Given the description of an element on the screen output the (x, y) to click on. 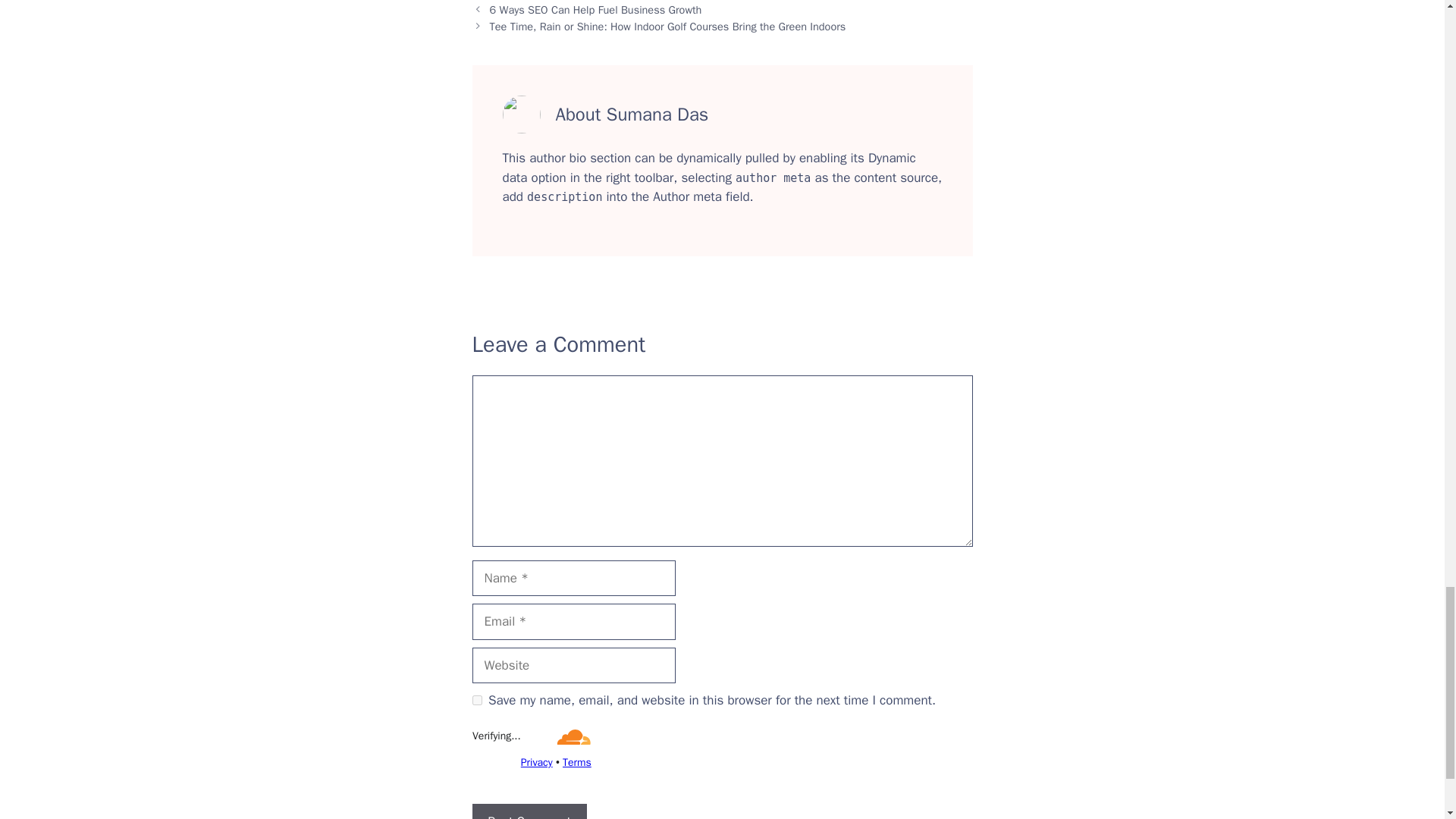
6 Ways SEO Can Help Fuel Business Growth (595, 9)
yes (476, 700)
Post Comment (528, 811)
Post Comment (528, 811)
